Given the description of an element on the screen output the (x, y) to click on. 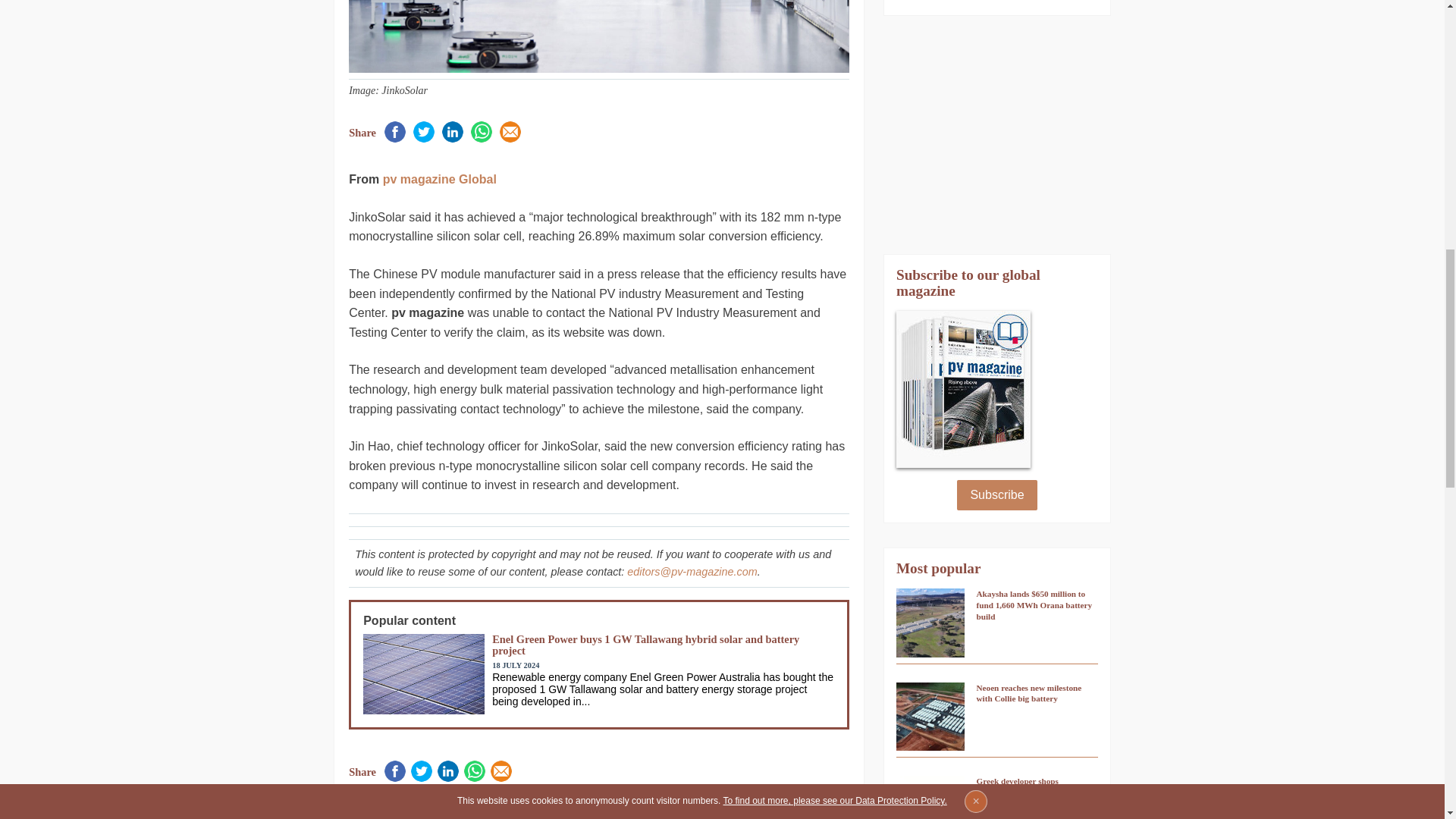
3rd party ad content (996, 135)
